Given the description of an element on the screen output the (x, y) to click on. 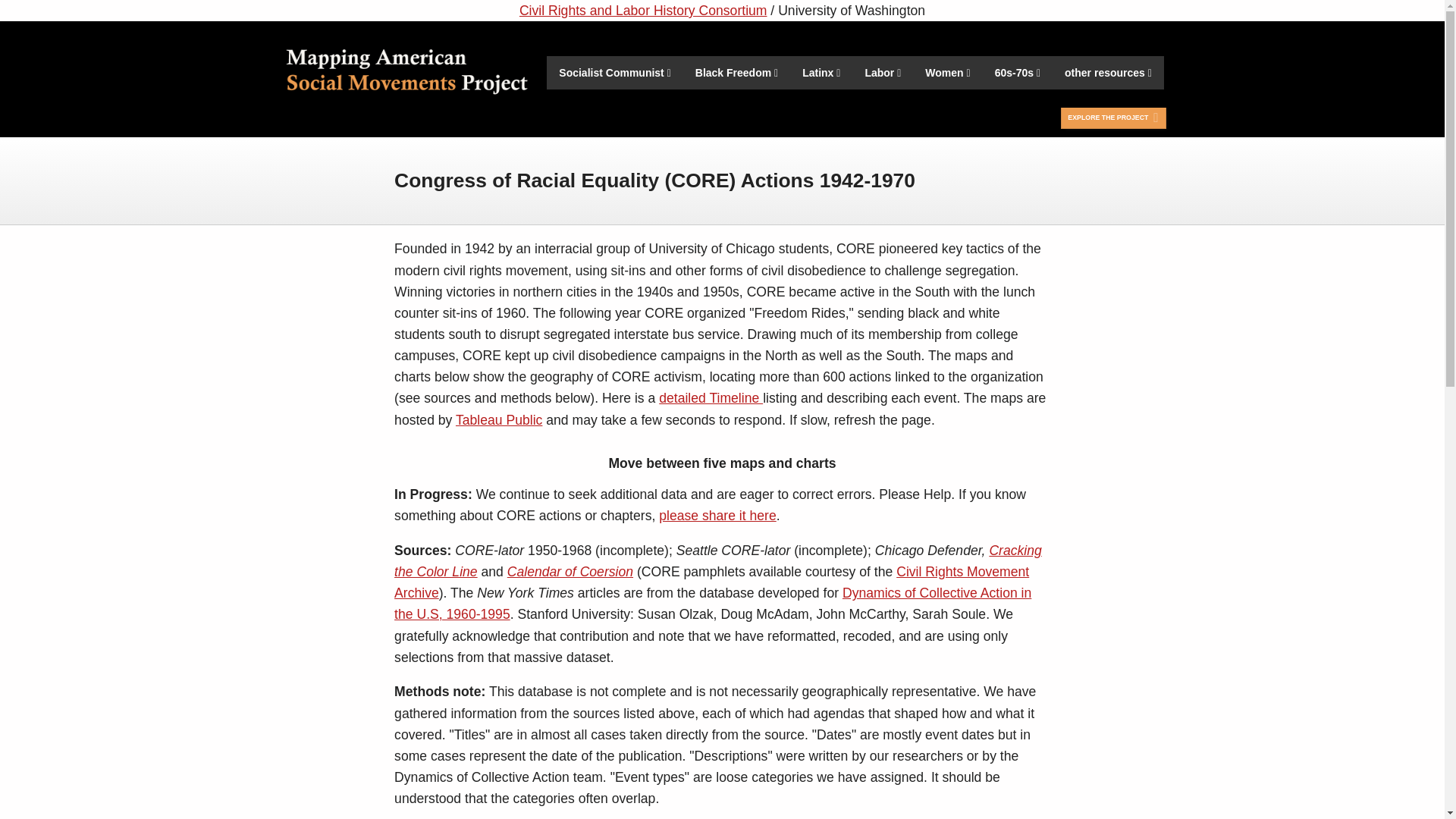
Latinx (820, 72)
Black Freedom (736, 72)
Labor (881, 72)
Civil Rights and Labor History Consortium (643, 10)
Socialist Communist (614, 72)
Women (946, 72)
